Given the description of an element on the screen output the (x, y) to click on. 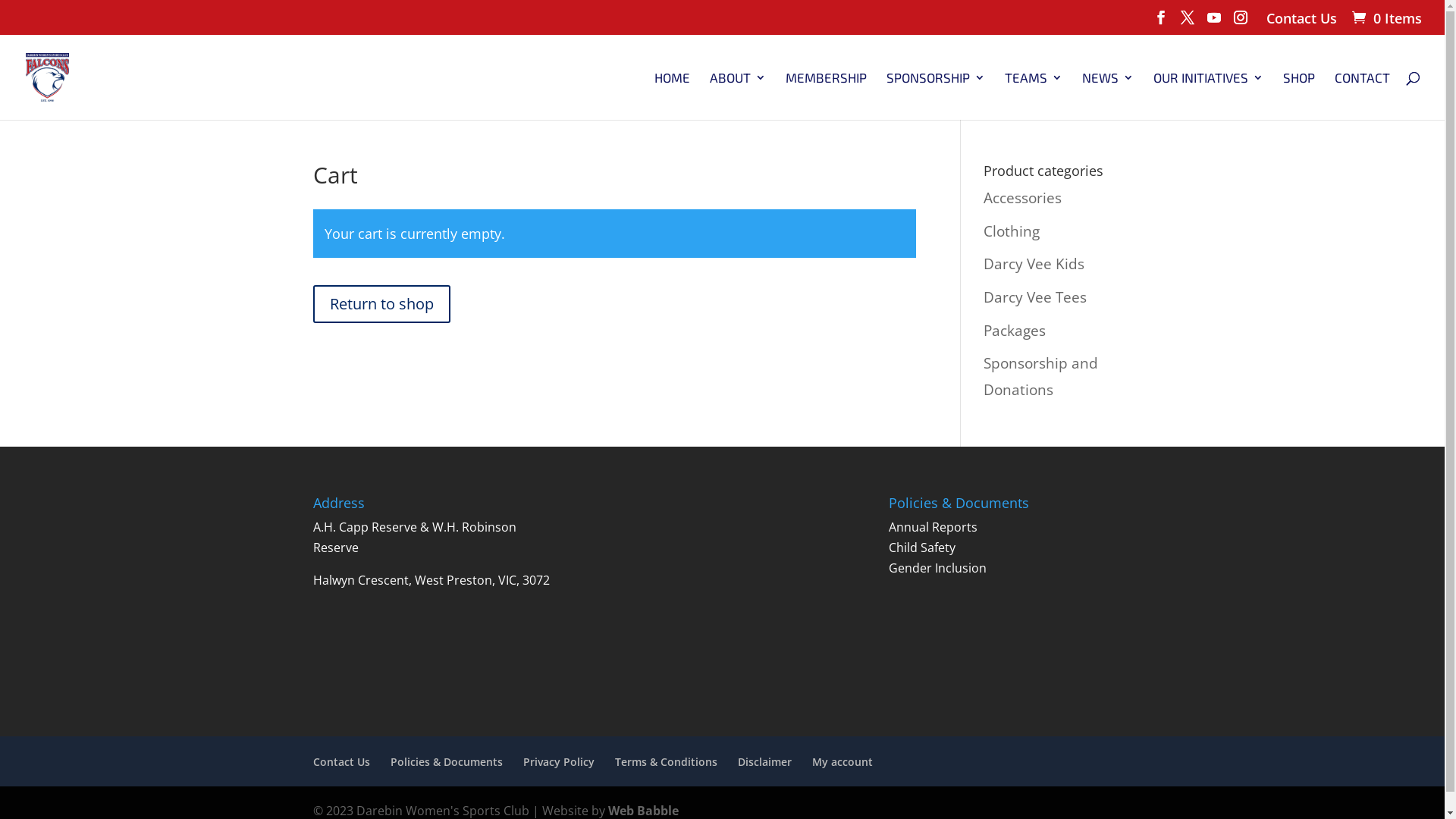
Packages Element type: text (1014, 330)
SPONSORSHIP Element type: text (935, 95)
CONTACT Element type: text (1362, 95)
Annual Reports Element type: text (932, 526)
Clothing Element type: text (1011, 231)
Terms & Conditions Element type: text (665, 761)
ABOUT Element type: text (737, 95)
Darcy Vee Tees Element type: text (1034, 297)
Return to shop Element type: text (380, 304)
SHOP Element type: text (1298, 95)
Contact Us Element type: text (340, 761)
Darcy Vee Kids Element type: text (1033, 263)
Privacy Policy Element type: text (558, 761)
NEWS Element type: text (1107, 95)
Gender Inclusion Element type: text (937, 567)
Child Safety Element type: text (921, 547)
Sponsorship and Donations Element type: text (1040, 375)
0 Items Element type: text (1384, 18)
Disclaimer Element type: text (763, 761)
Accessories Element type: text (1022, 197)
HOME Element type: text (672, 95)
TEAMS Element type: text (1033, 95)
My account Element type: text (841, 761)
MEMBERSHIP Element type: text (825, 95)
OUR INITIATIVES Element type: text (1208, 95)
Contact Us Element type: text (1301, 22)
Policies & Documents Element type: text (445, 761)
